Given the description of an element on the screen output the (x, y) to click on. 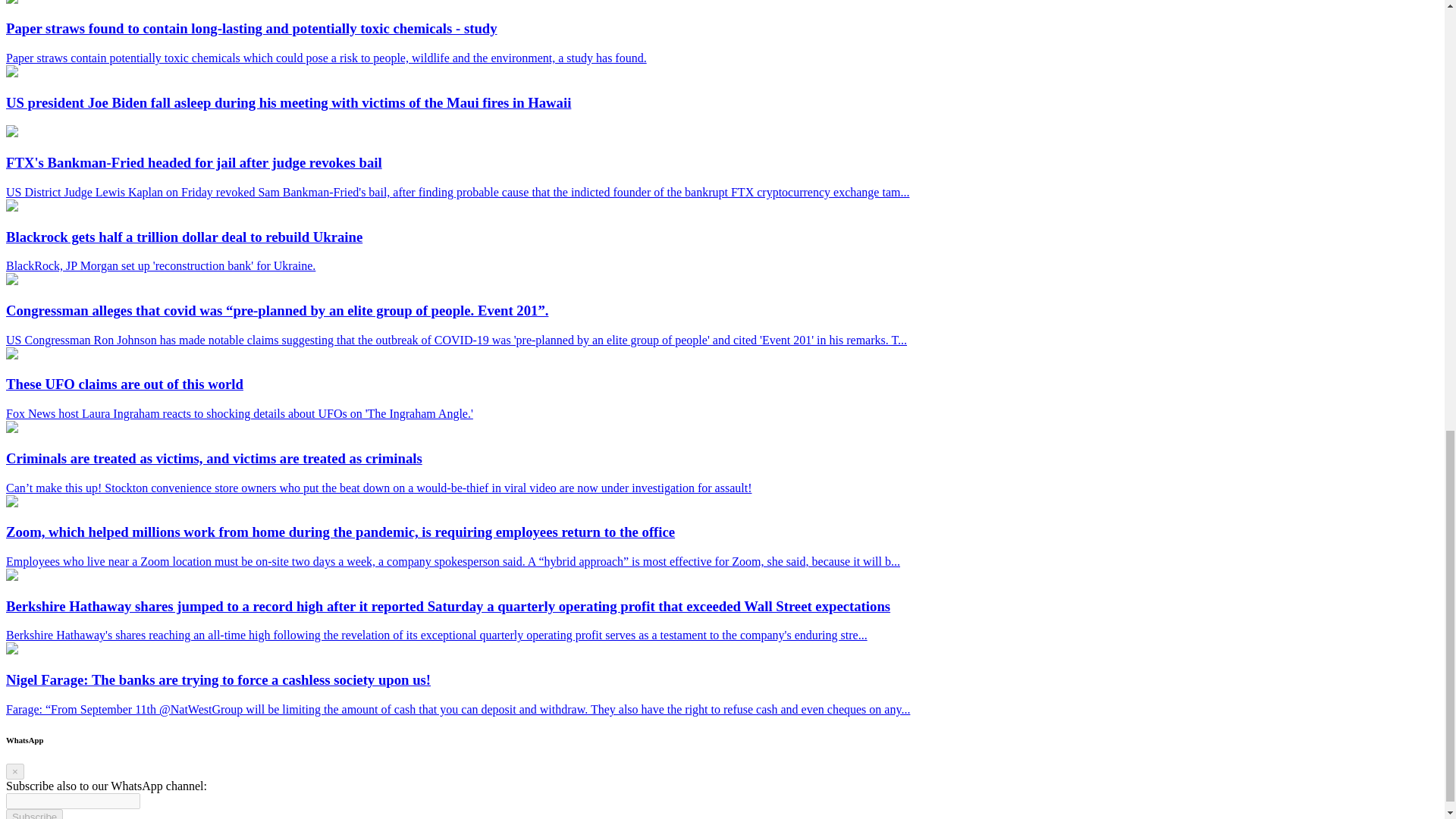
FTX's Bankman-Fried headed for jail after judge revokes bail (11, 132)
These UFO claims are out of this world (11, 354)
